Given the description of an element on the screen output the (x, y) to click on. 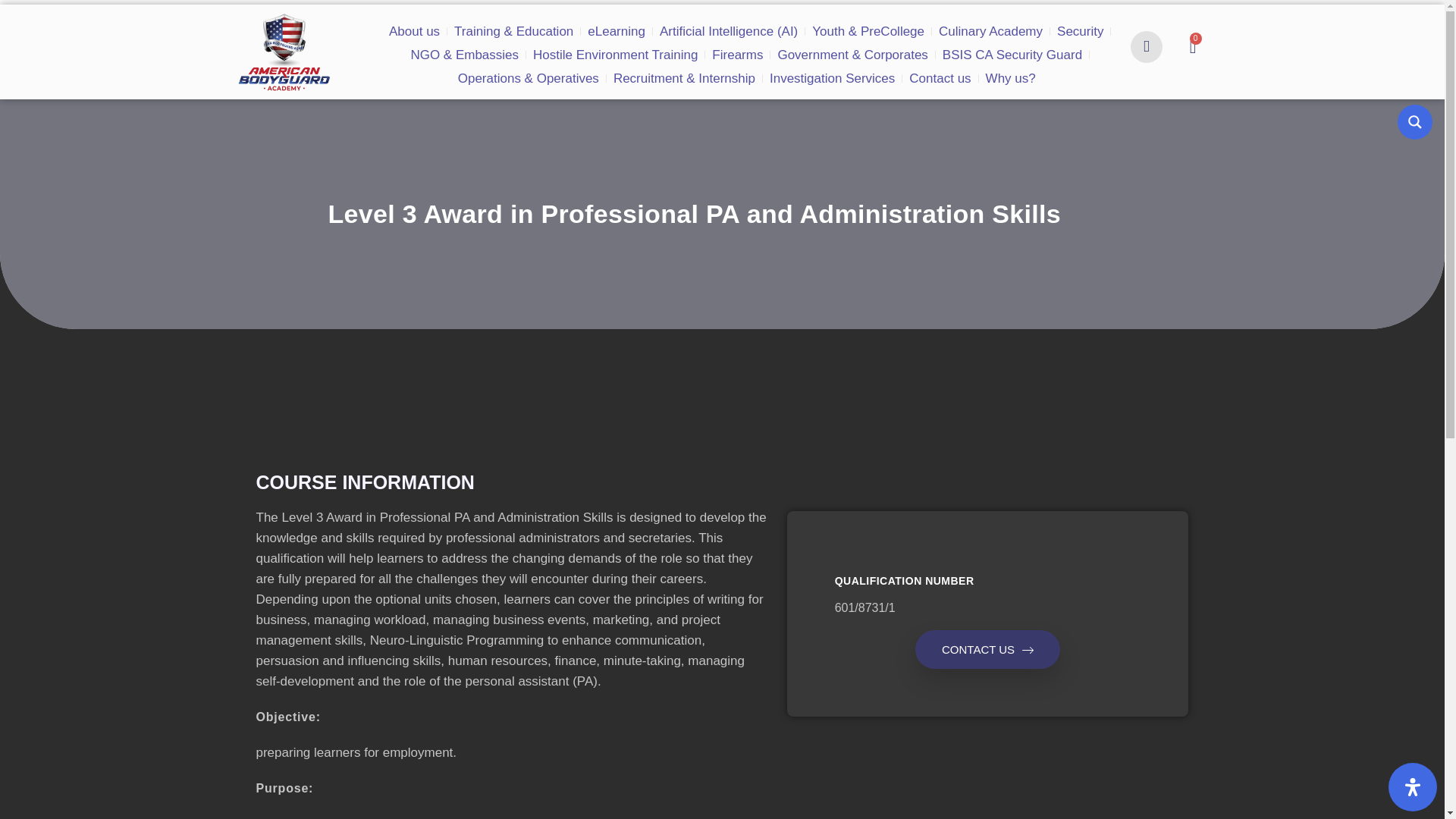
Accessibility (1413, 786)
eLearning (563, 17)
Contact us (754, 64)
ARROW-ICON-SIZE3 (1027, 650)
Hostile Environment Training (432, 41)
Culinary Academy (876, 17)
Security (952, 17)
Why us? (814, 64)
Firearms (534, 41)
Investigation Services (663, 64)
BSIS CA Security Guard (764, 41)
About us (392, 17)
